Given the description of an element on the screen output the (x, y) to click on. 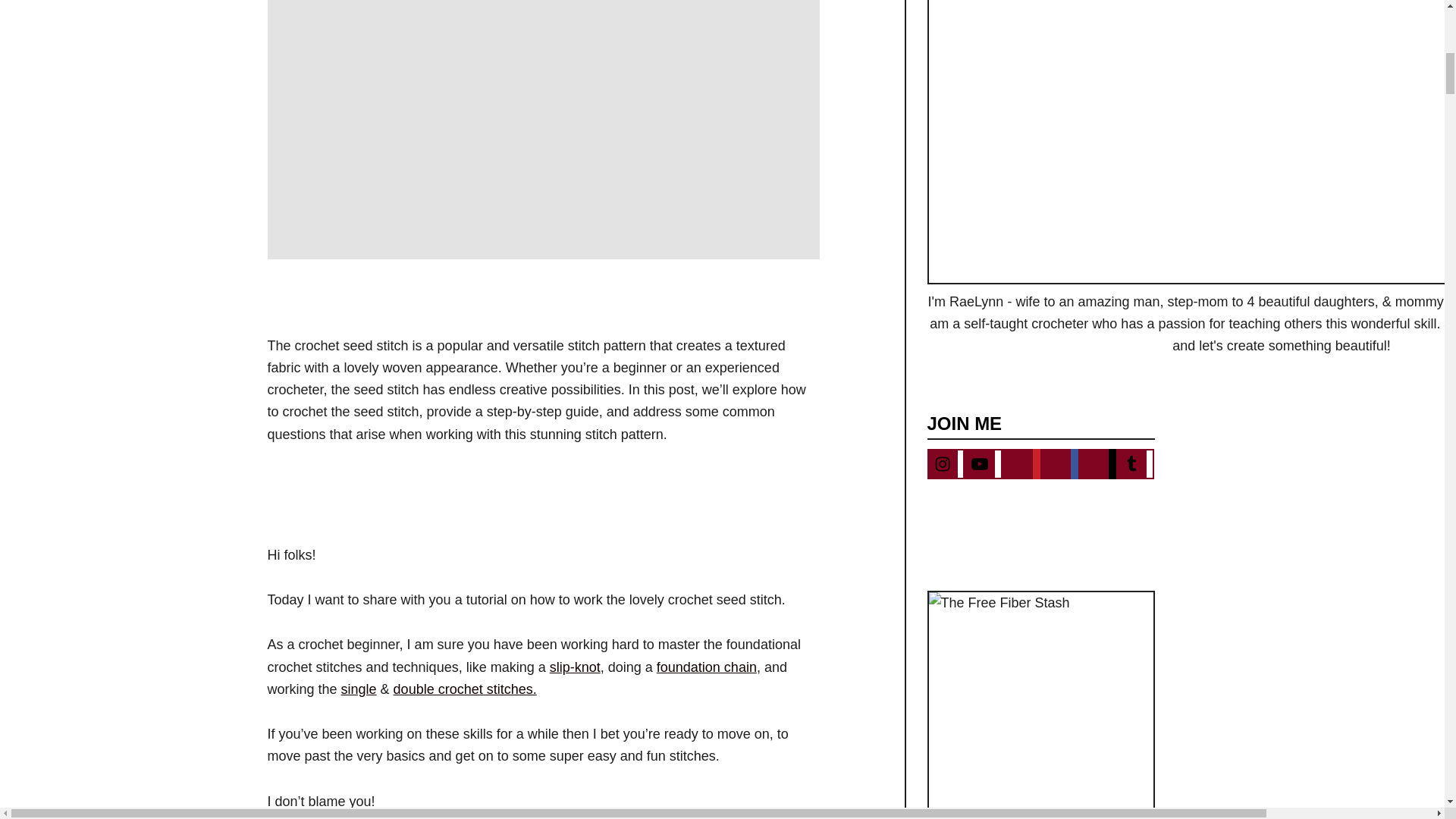
Follow on Tumblr (1135, 463)
Follow on Pinterest (1022, 463)
Follow on YouTube (983, 463)
Follow on X (1097, 463)
Follow on Facebook (1059, 463)
Follow on Instagram (944, 463)
